Given the description of an element on the screen output the (x, y) to click on. 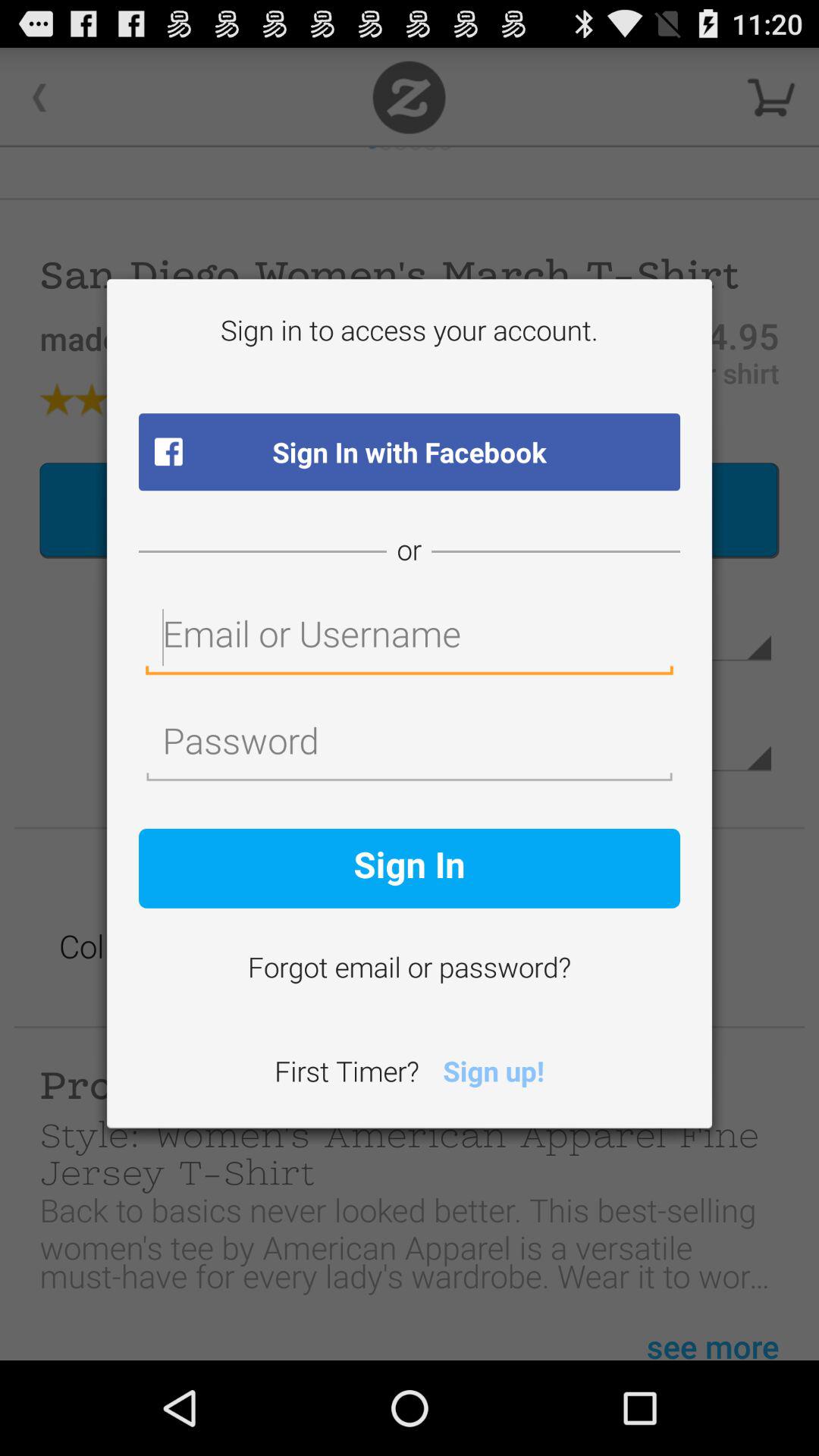
select the item below the or icon (409, 637)
